Given the description of an element on the screen output the (x, y) to click on. 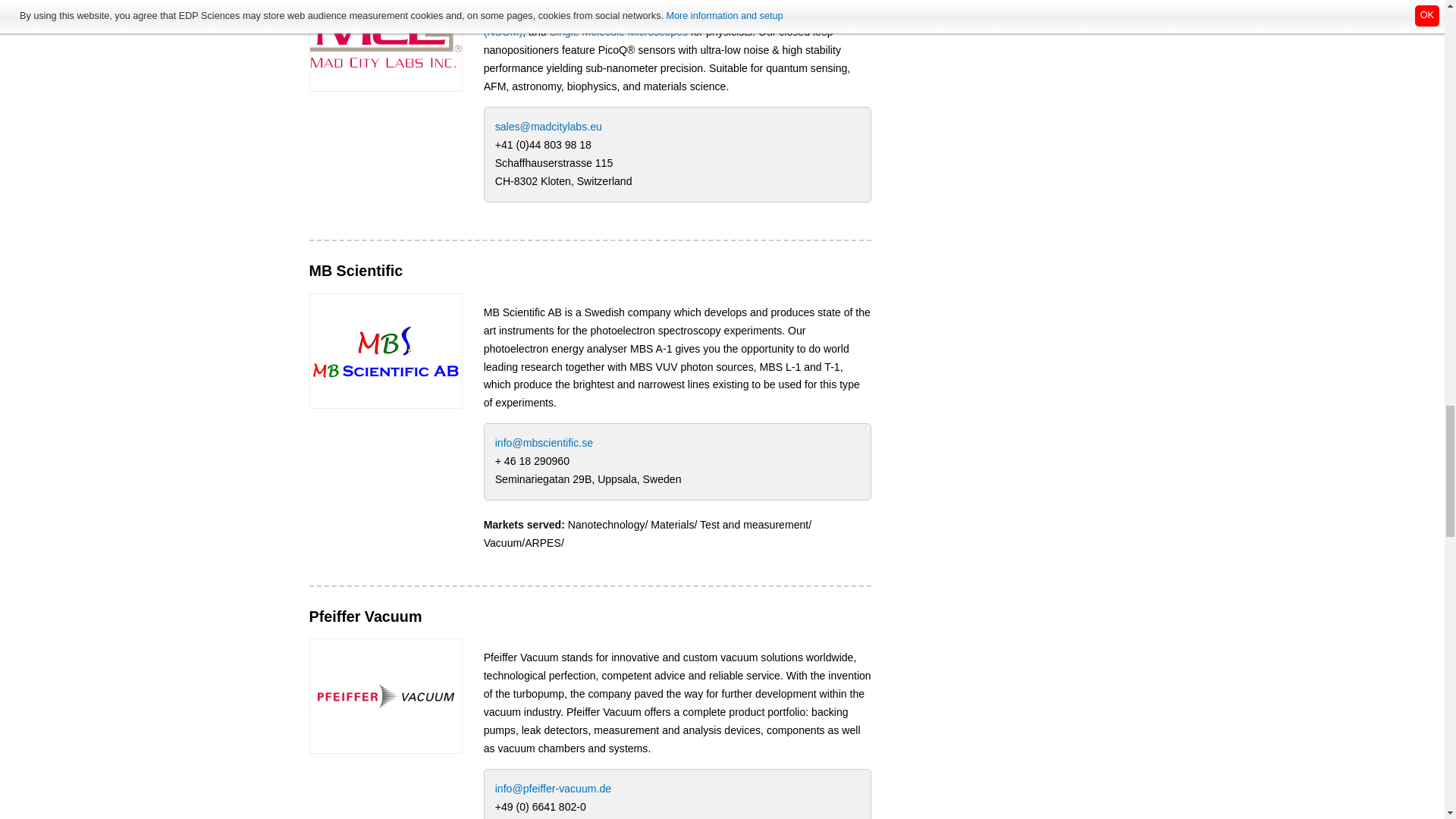
Access the website (385, 349)
Access the website (385, 33)
Access the website (385, 695)
